Given the description of an element on the screen output the (x, y) to click on. 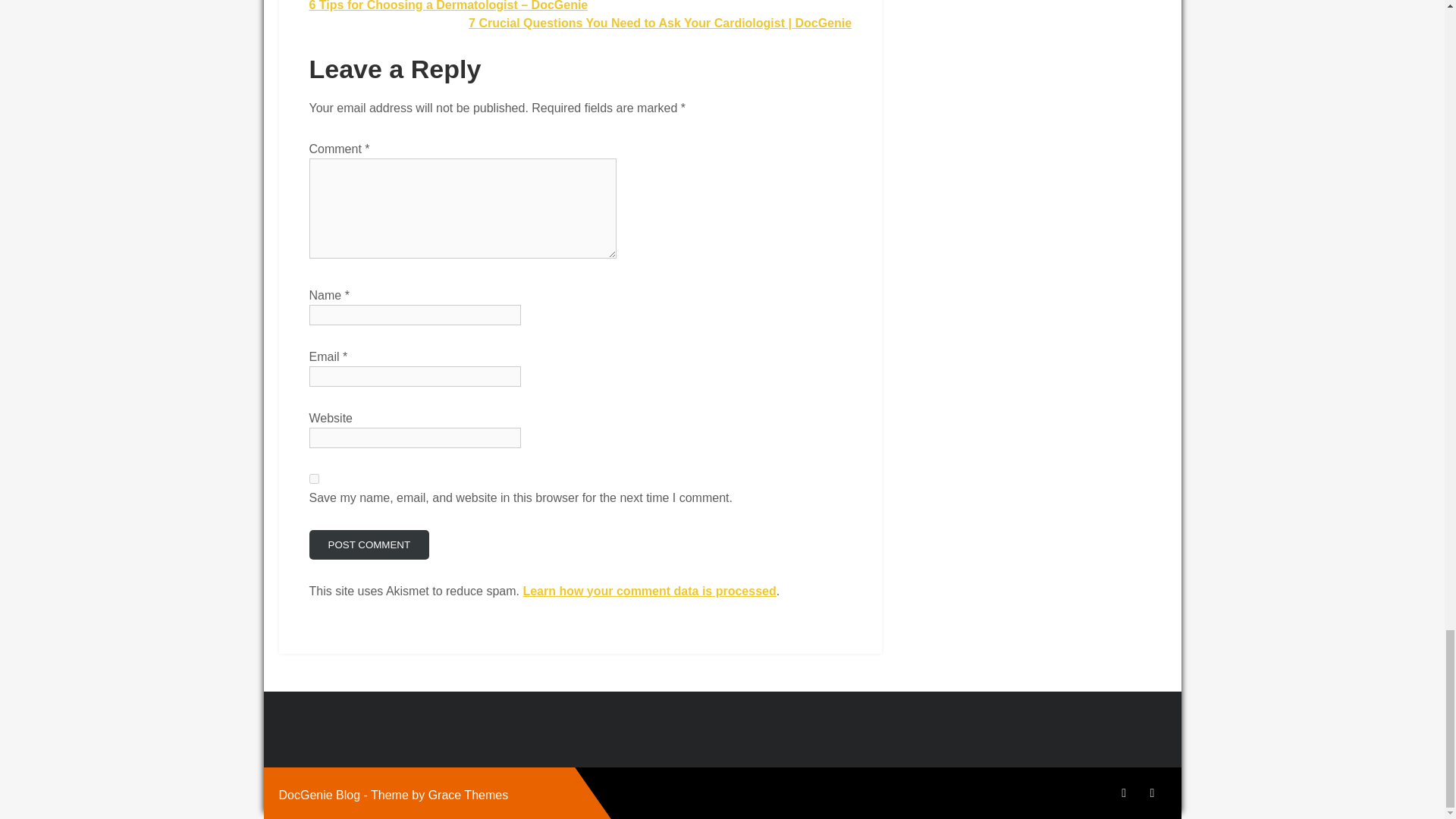
Learn how your comment data is processed (649, 590)
Post Comment (368, 544)
yes (313, 479)
Post Comment (368, 544)
